Given the description of an element on the screen output the (x, y) to click on. 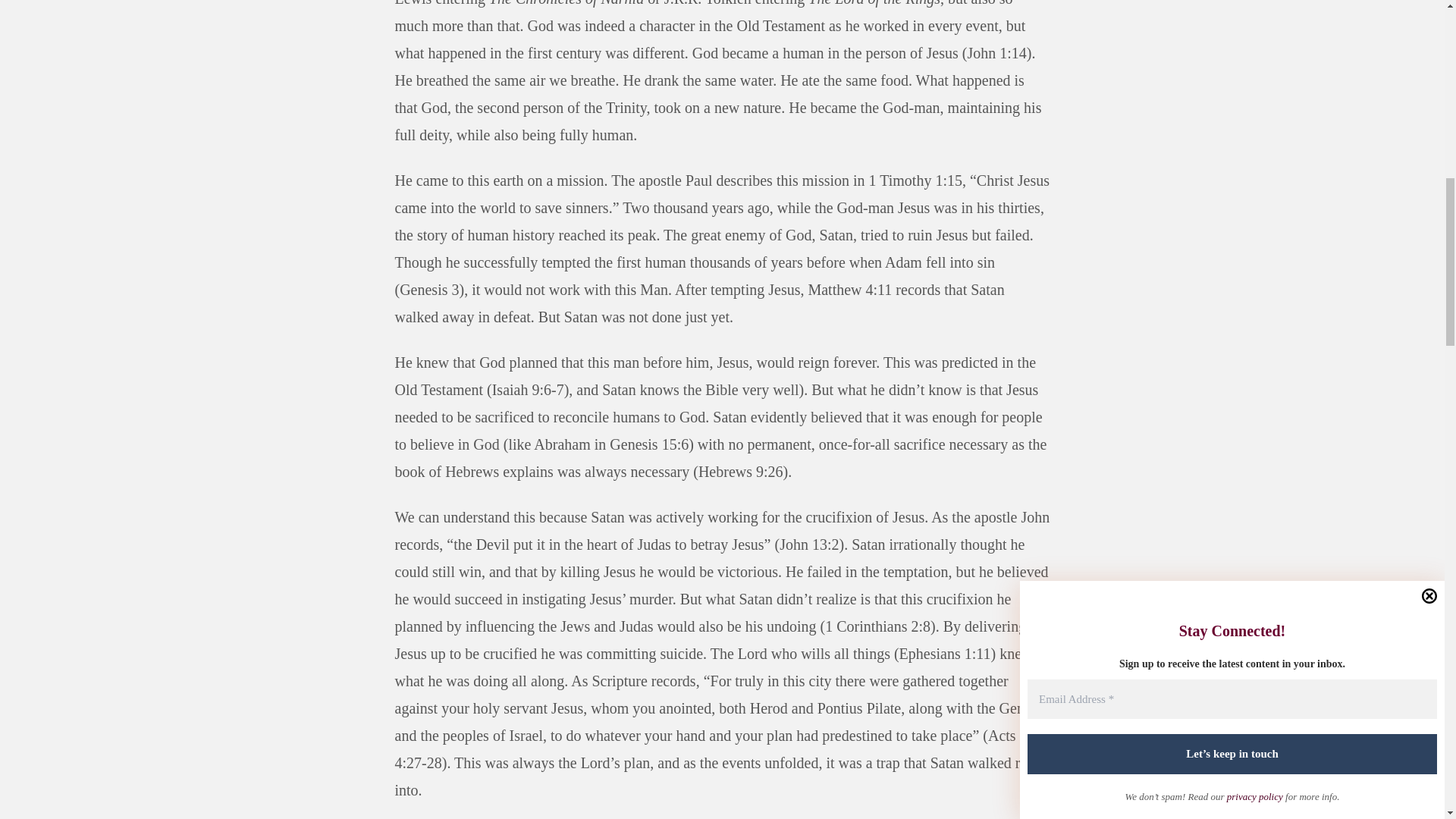
privacy policy (1254, 11)
